Given the description of an element on the screen output the (x, y) to click on. 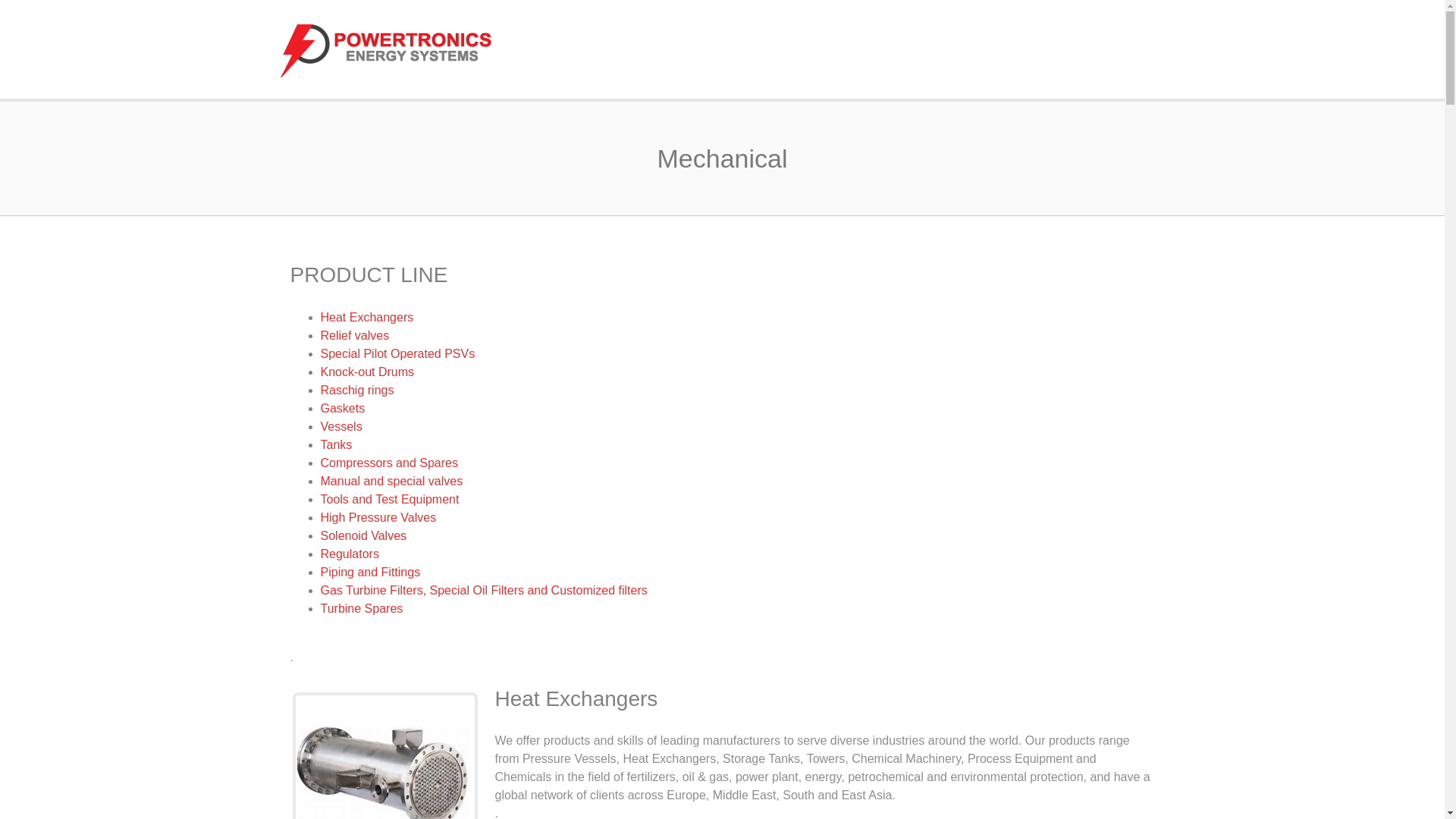
Gaskets (342, 408)
Knock-out Drums (366, 371)
Regulators (349, 553)
PowerTronics (398, 50)
Heat Exchangers (366, 317)
Solenoid Valves (363, 535)
Tanks (336, 444)
CONTACT US (1119, 50)
Piping and Fittings (370, 571)
PROJECTS (1024, 50)
